Given the description of an element on the screen output the (x, y) to click on. 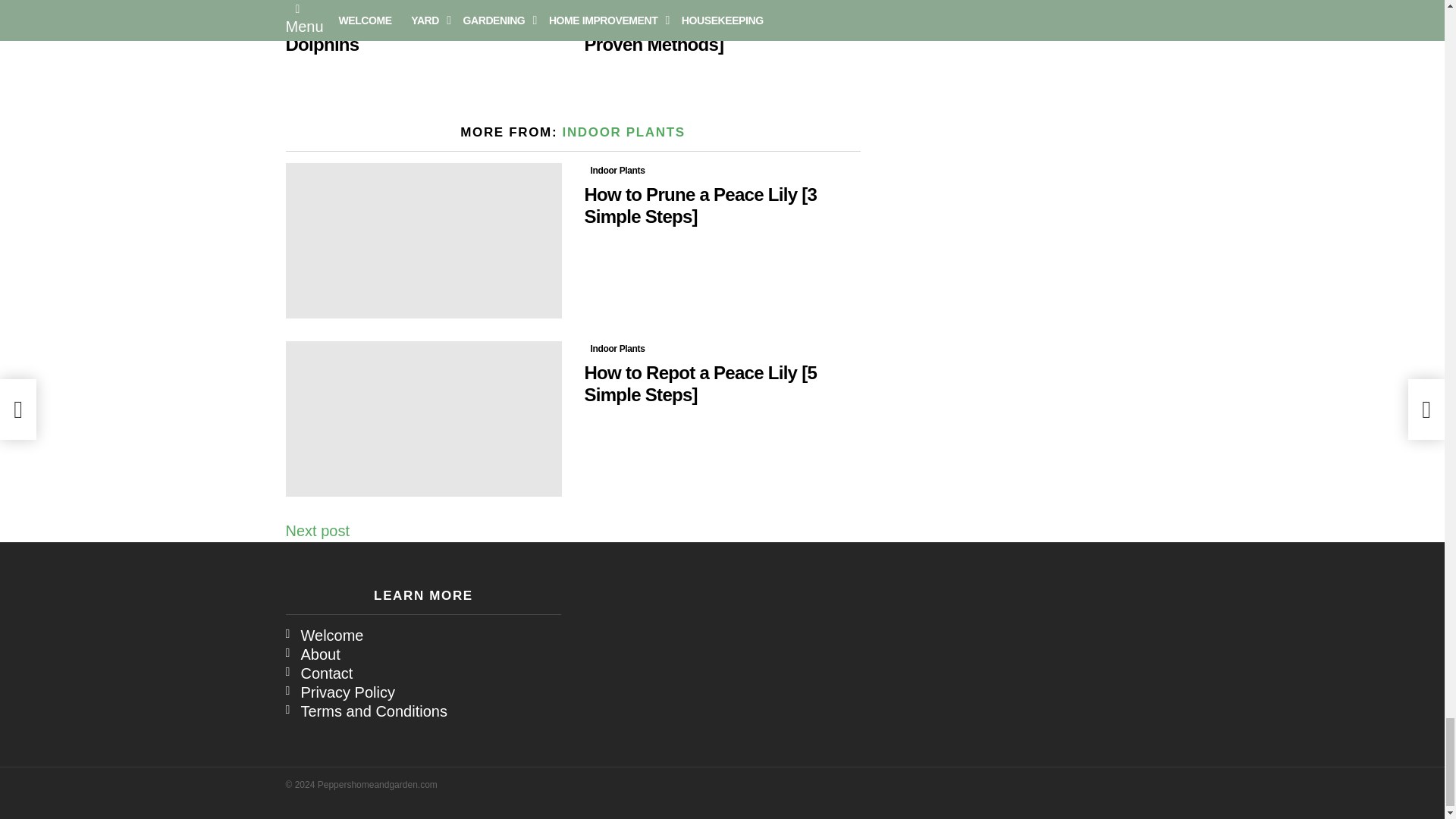
How Often to Water String of Dolphins (422, 1)
